Given the description of an element on the screen output the (x, y) to click on. 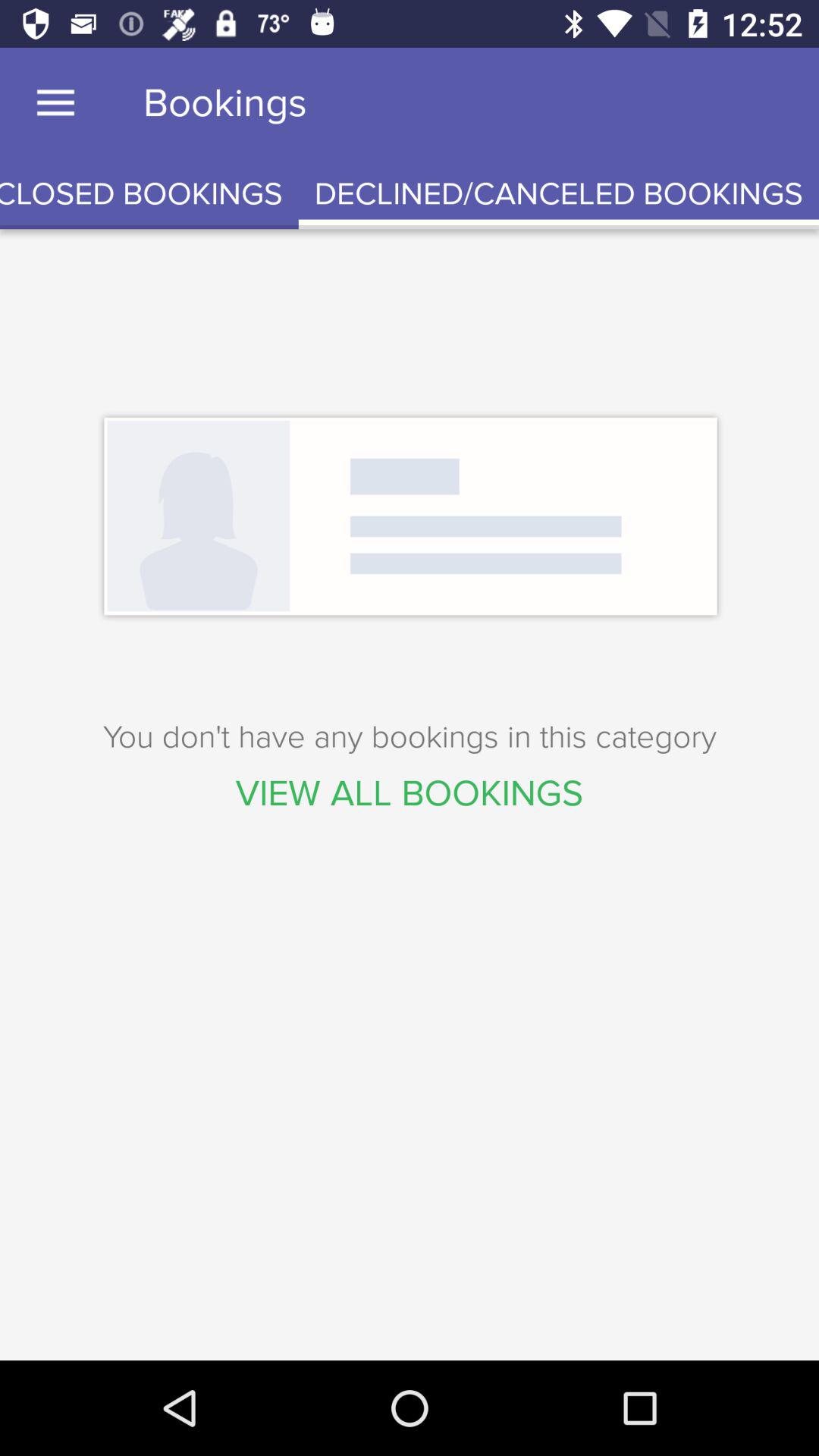
click the item next to the bookings (55, 103)
